Given the description of an element on the screen output the (x, y) to click on. 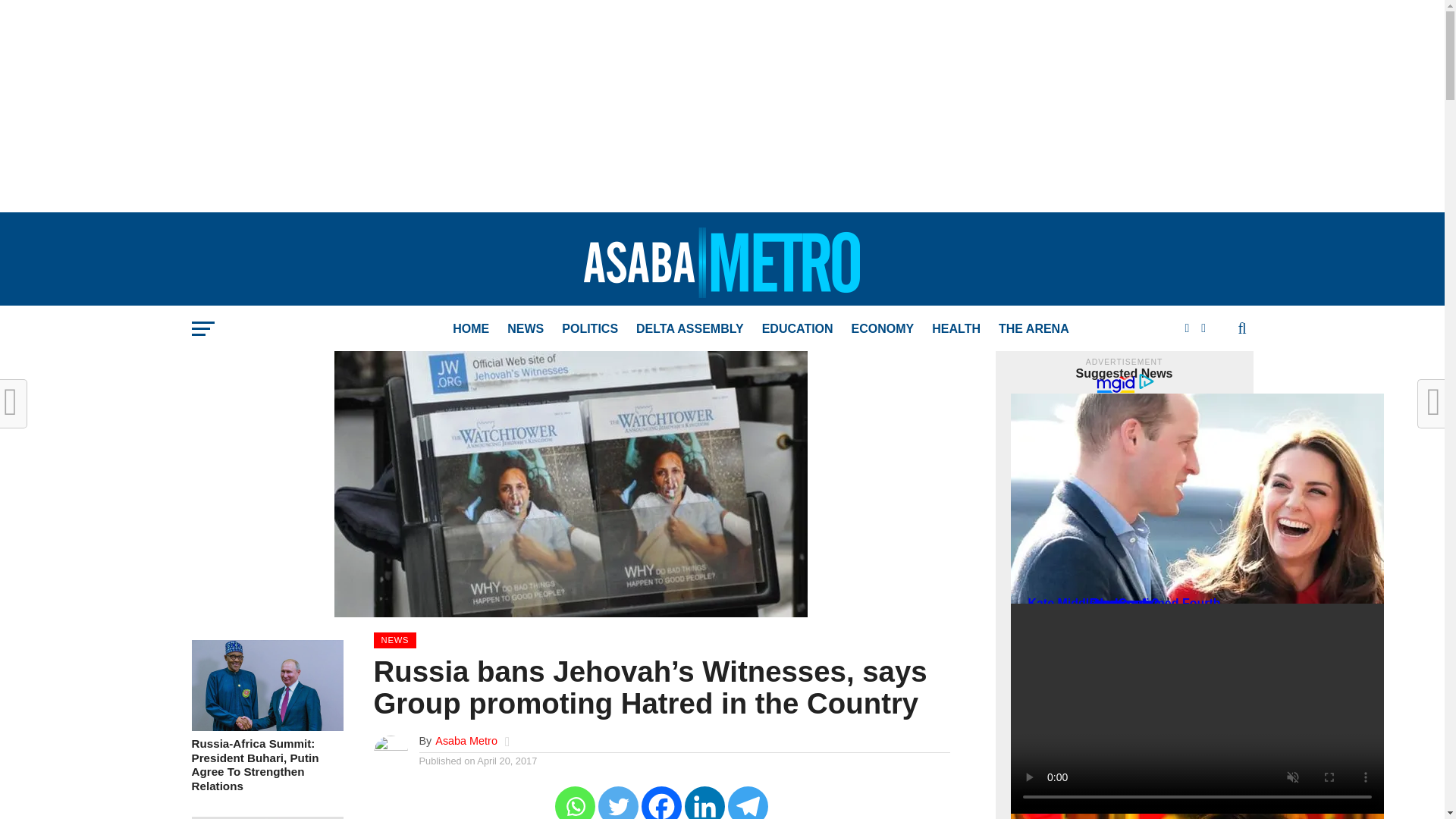
Facebook (661, 802)
Twitter (618, 802)
HOME (470, 328)
NEWS (525, 328)
POLITICS (590, 328)
THE ARENA (1034, 328)
ECONOMY (883, 328)
Telegram (748, 802)
Posts by Asaba Metro (466, 740)
